Given the description of an element on the screen output the (x, y) to click on. 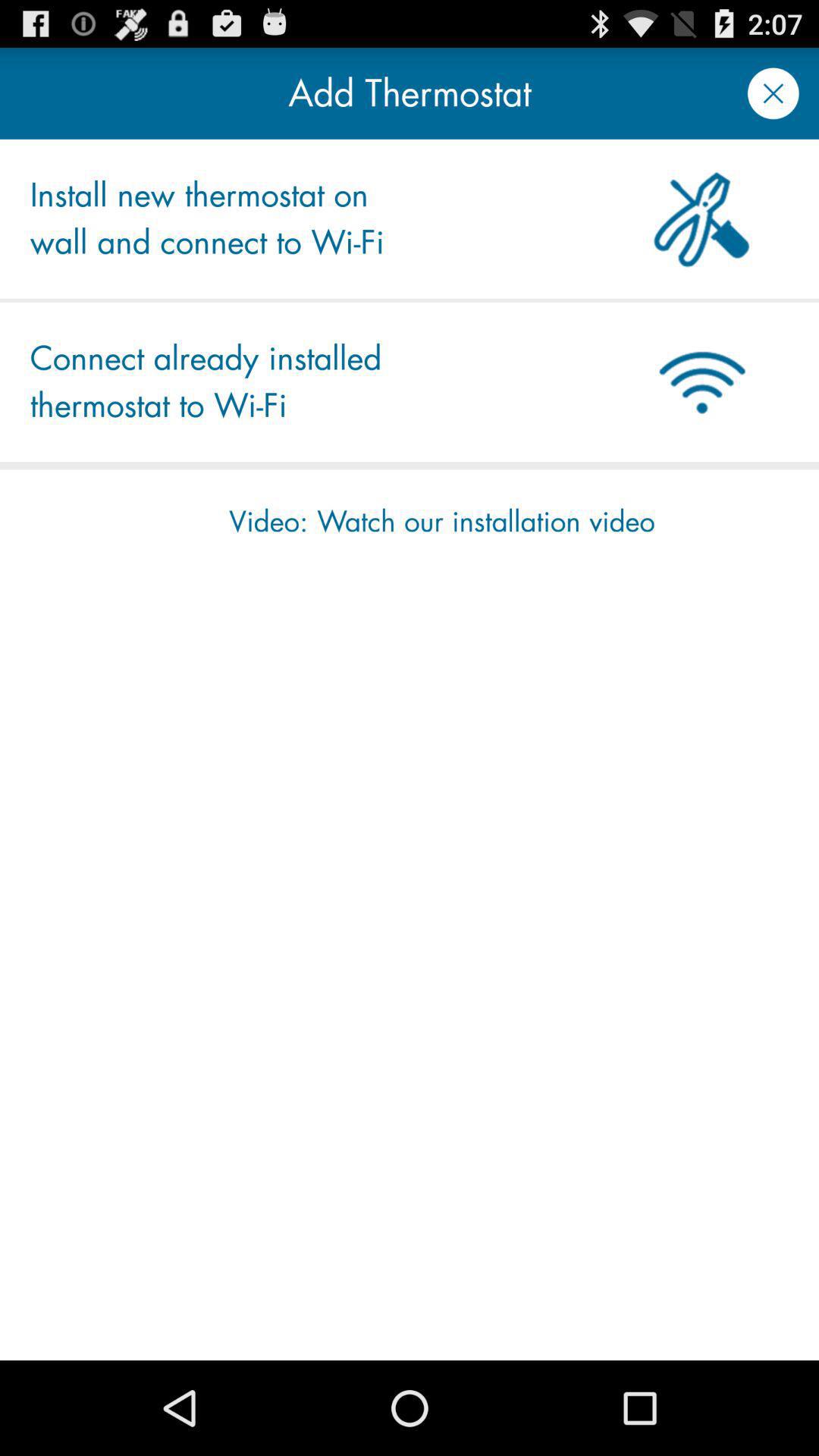
close a window (773, 93)
